Given the description of an element on the screen output the (x, y) to click on. 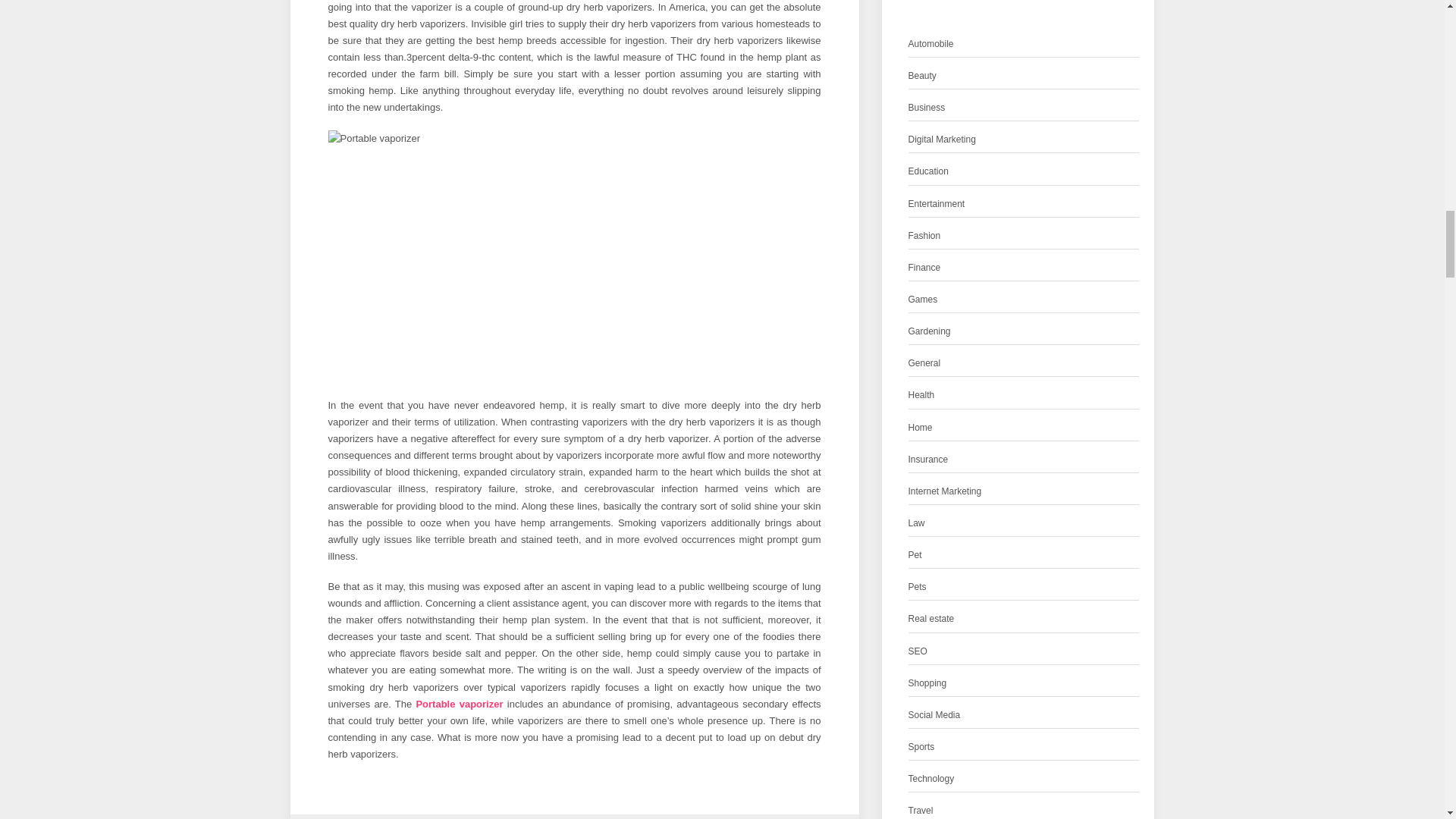
Portable vaporizer (458, 704)
